Given the description of an element on the screen output the (x, y) to click on. 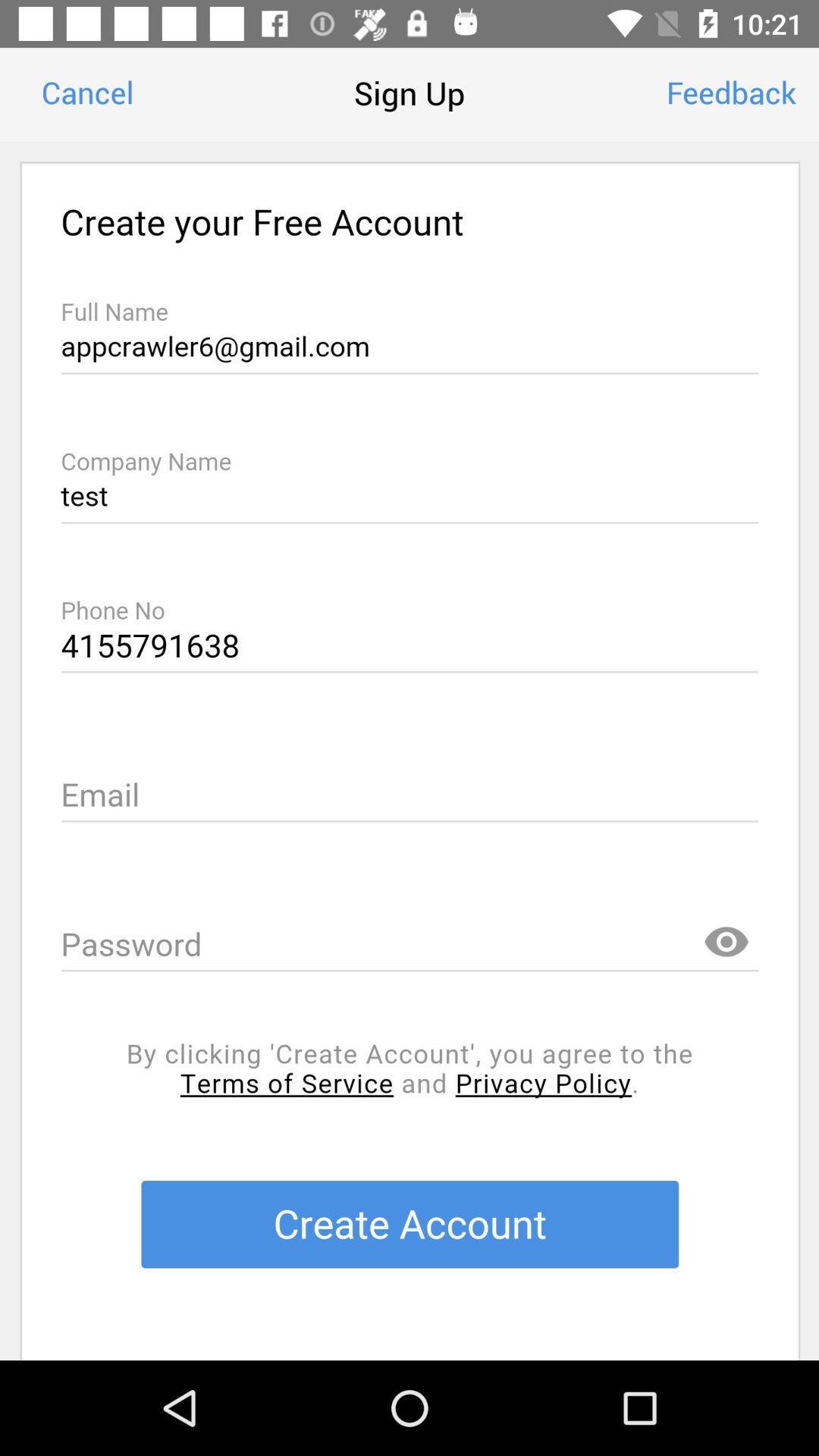
user registration form (409, 750)
